Given the description of an element on the screen output the (x, y) to click on. 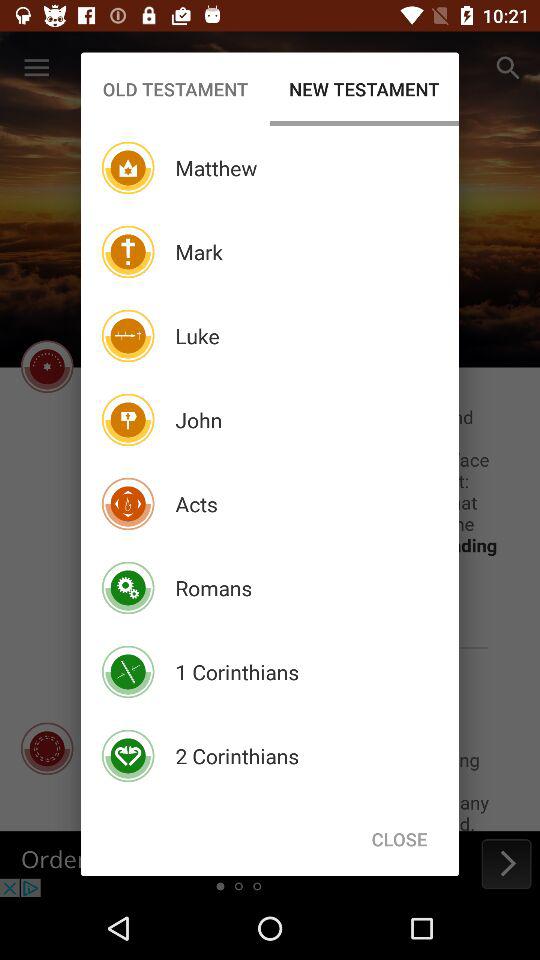
turn off the icon above romans icon (196, 503)
